Given the description of an element on the screen output the (x, y) to click on. 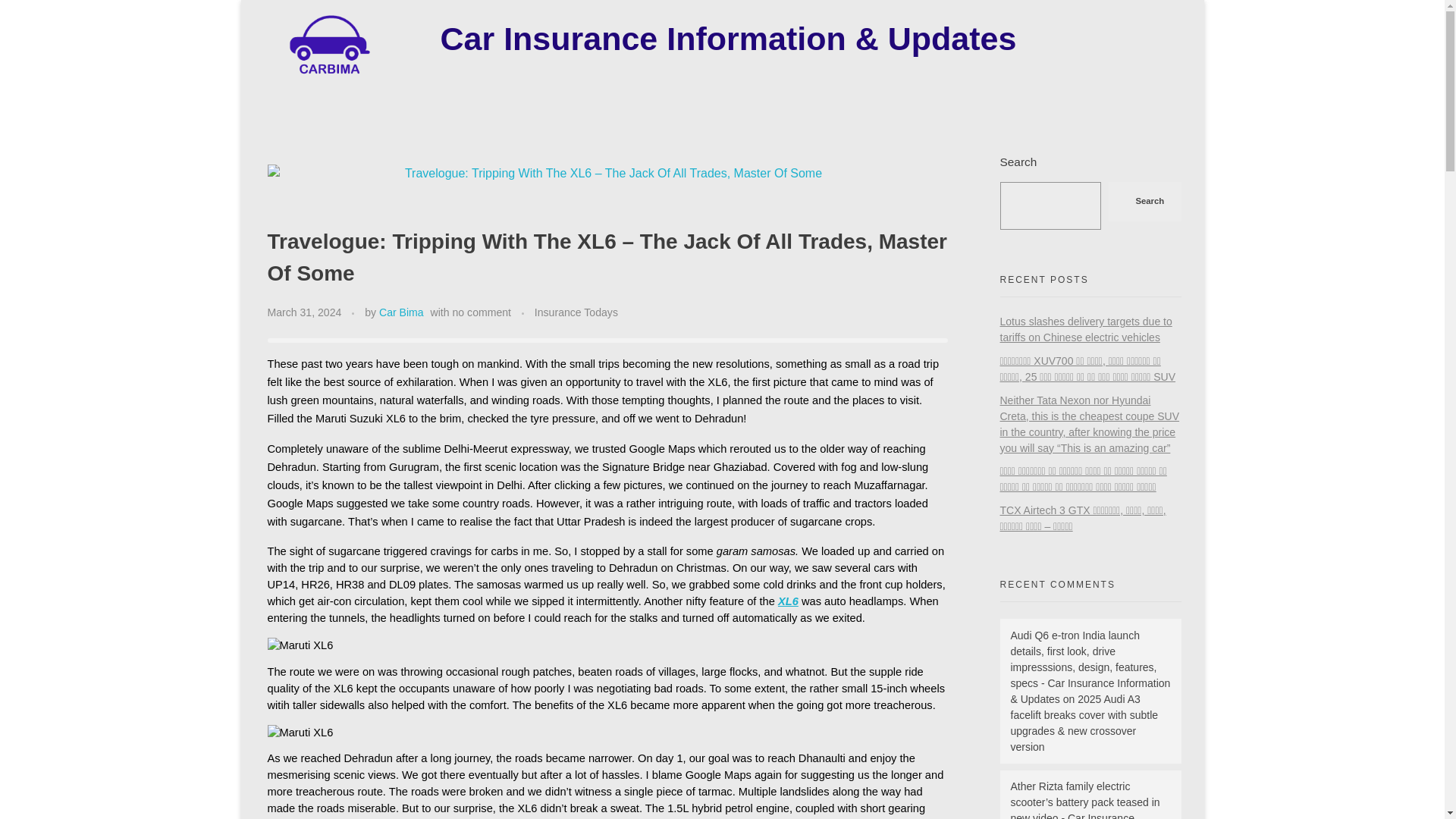
View all posts by Car Bima (400, 312)
Search (1144, 200)
Insurance Todays (575, 312)
View all posts in Insurance Todays (575, 312)
Car Bima (400, 312)
XL6 (787, 601)
